Given the description of an element on the screen output the (x, y) to click on. 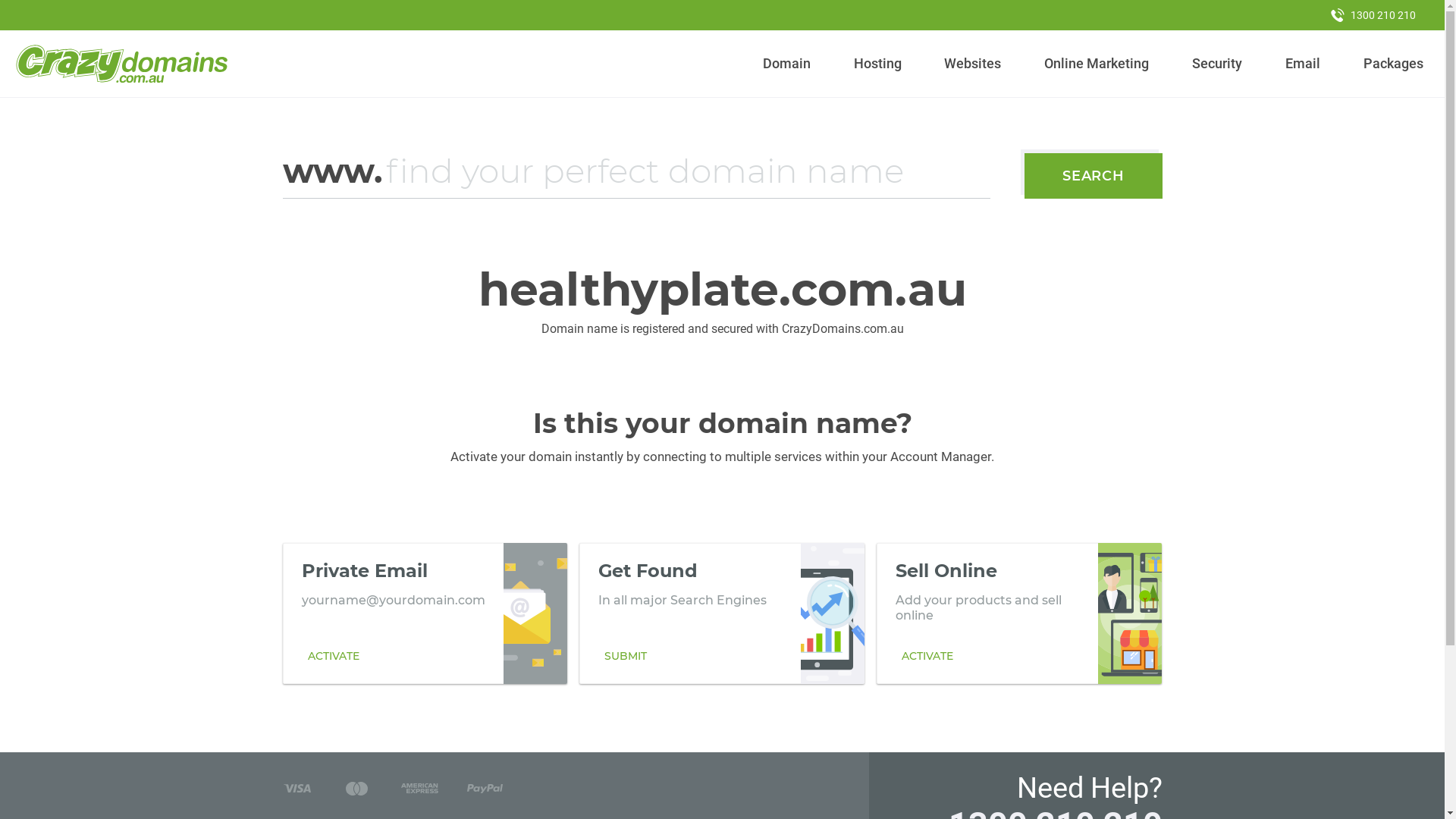
Websites Element type: text (972, 63)
Domain Element type: text (786, 63)
Get Found
In all major Search Engines
SUBMIT Element type: text (721, 613)
Online Marketing Element type: text (1096, 63)
SEARCH Element type: text (1092, 175)
Private Email
yourname@yourdomain.com
ACTIVATE Element type: text (424, 613)
Sell Online
Add your products and sell online
ACTIVATE Element type: text (1018, 613)
Security Element type: text (1217, 63)
1300 210 210 Element type: text (1373, 15)
Email Element type: text (1302, 63)
Hosting Element type: text (877, 63)
Packages Element type: text (1392, 63)
